Given the description of an element on the screen output the (x, y) to click on. 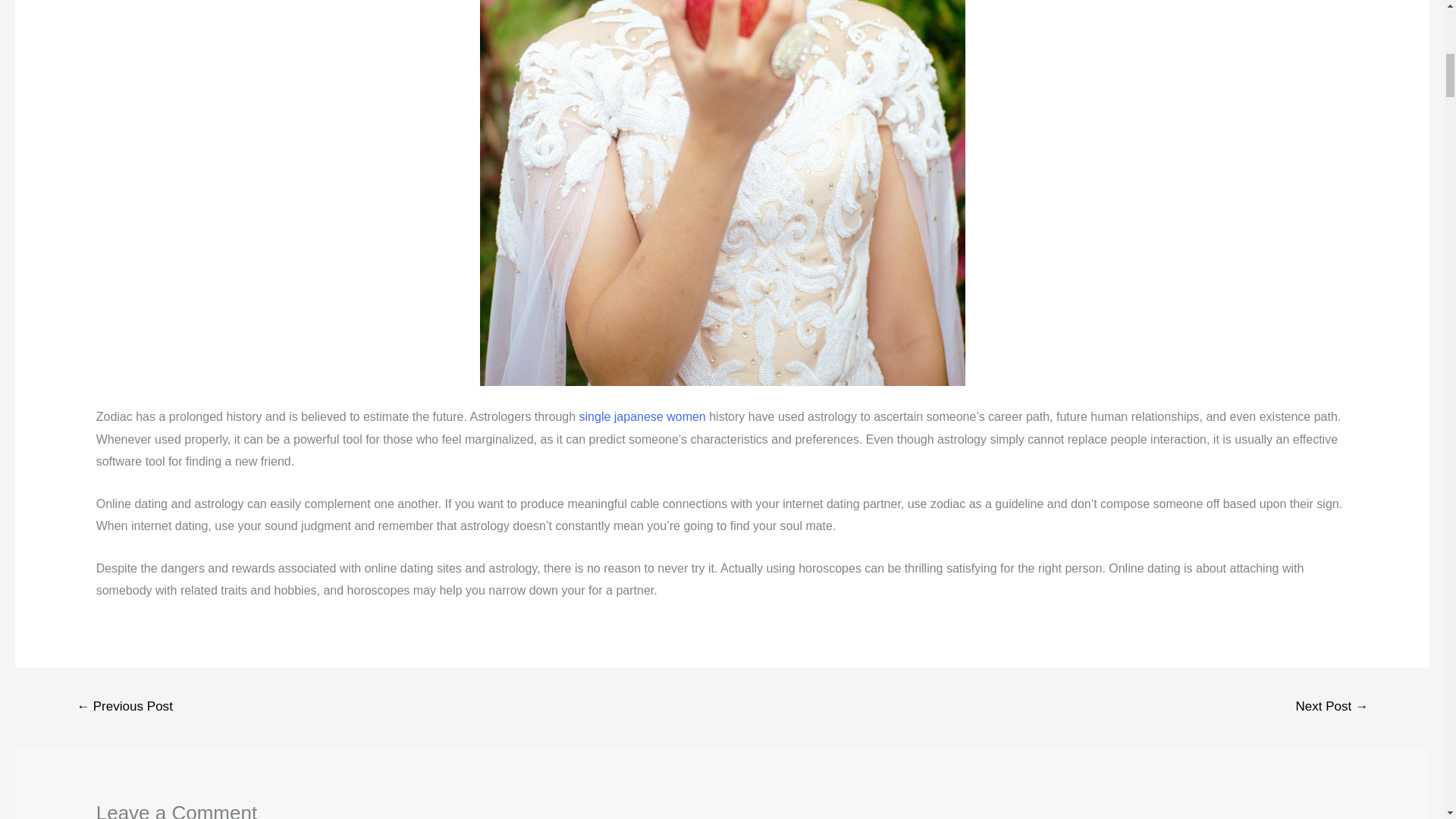
single japanese women (642, 416)
